Given the description of an element on the screen output the (x, y) to click on. 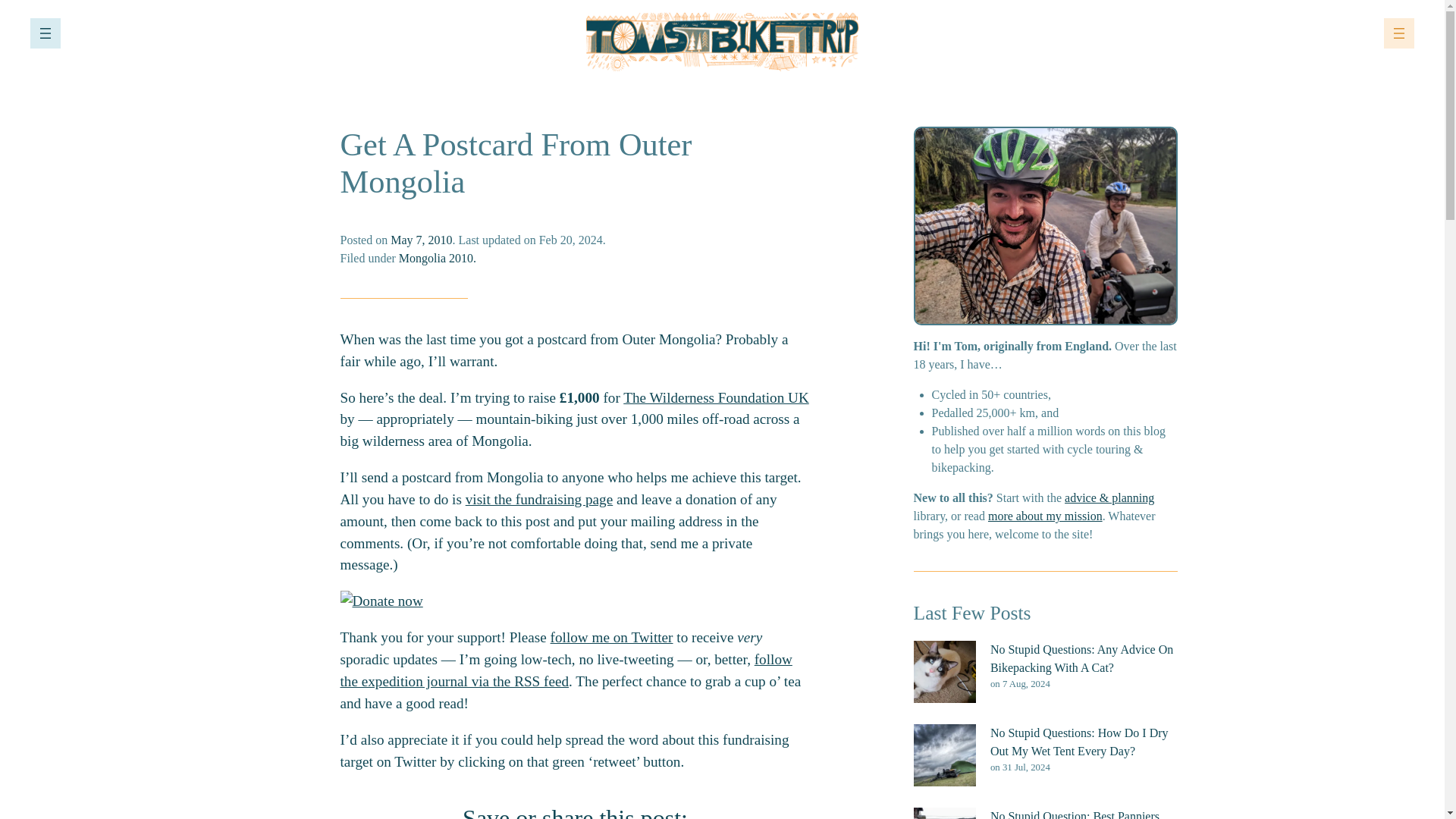
The Wilderness Foundation UK (716, 397)
visit the fundraising page (538, 498)
May 7, 2010 (420, 239)
Mongolia 2010 (435, 257)
Donate now (380, 601)
follow the expedition journal via the RSS feed (565, 670)
follow me on Twitter (611, 637)
